Given the description of an element on the screen output the (x, y) to click on. 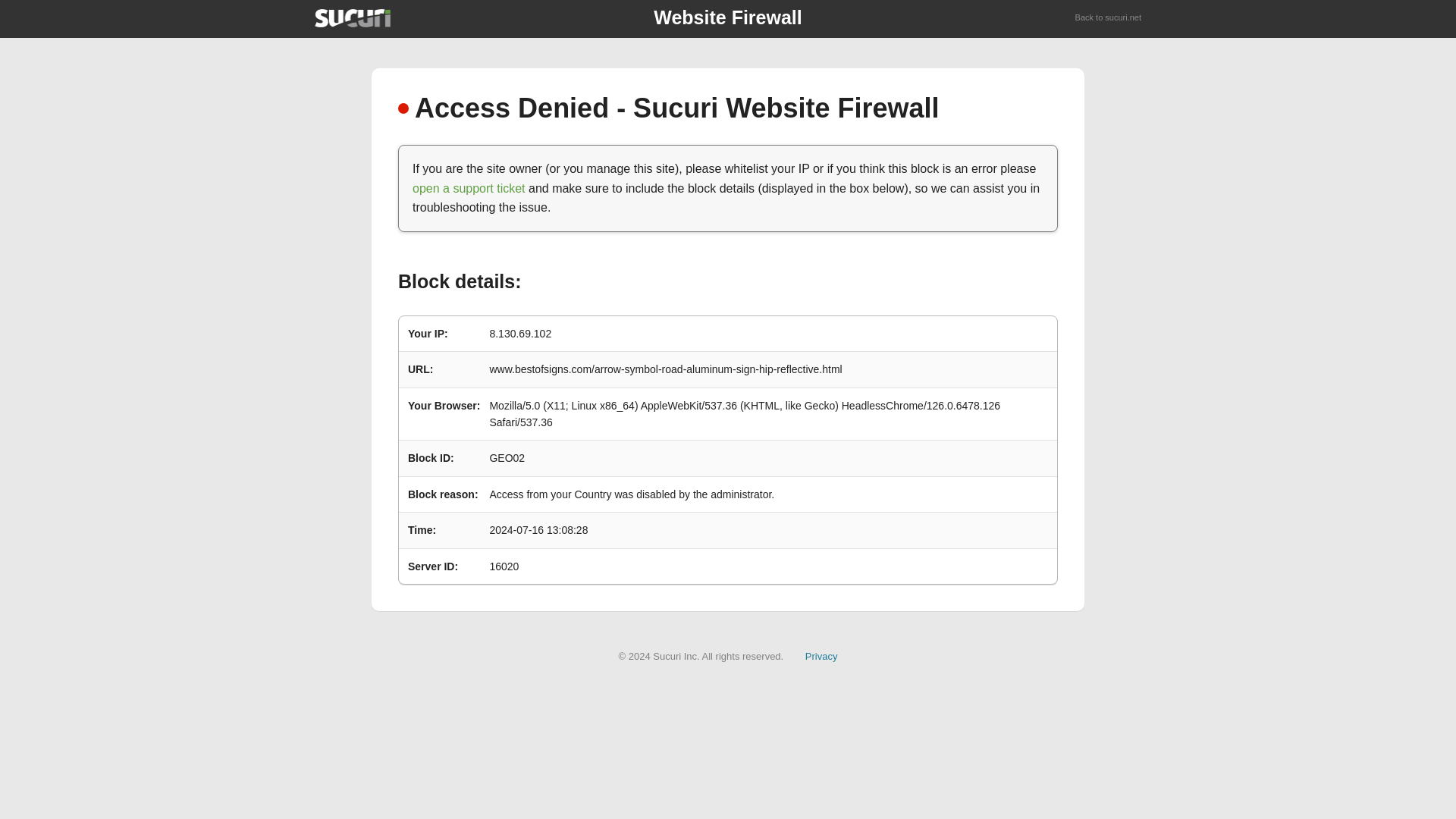
Back to sucuri.net (1108, 18)
Privacy (821, 655)
open a support ticket (468, 187)
